Given the description of an element on the screen output the (x, y) to click on. 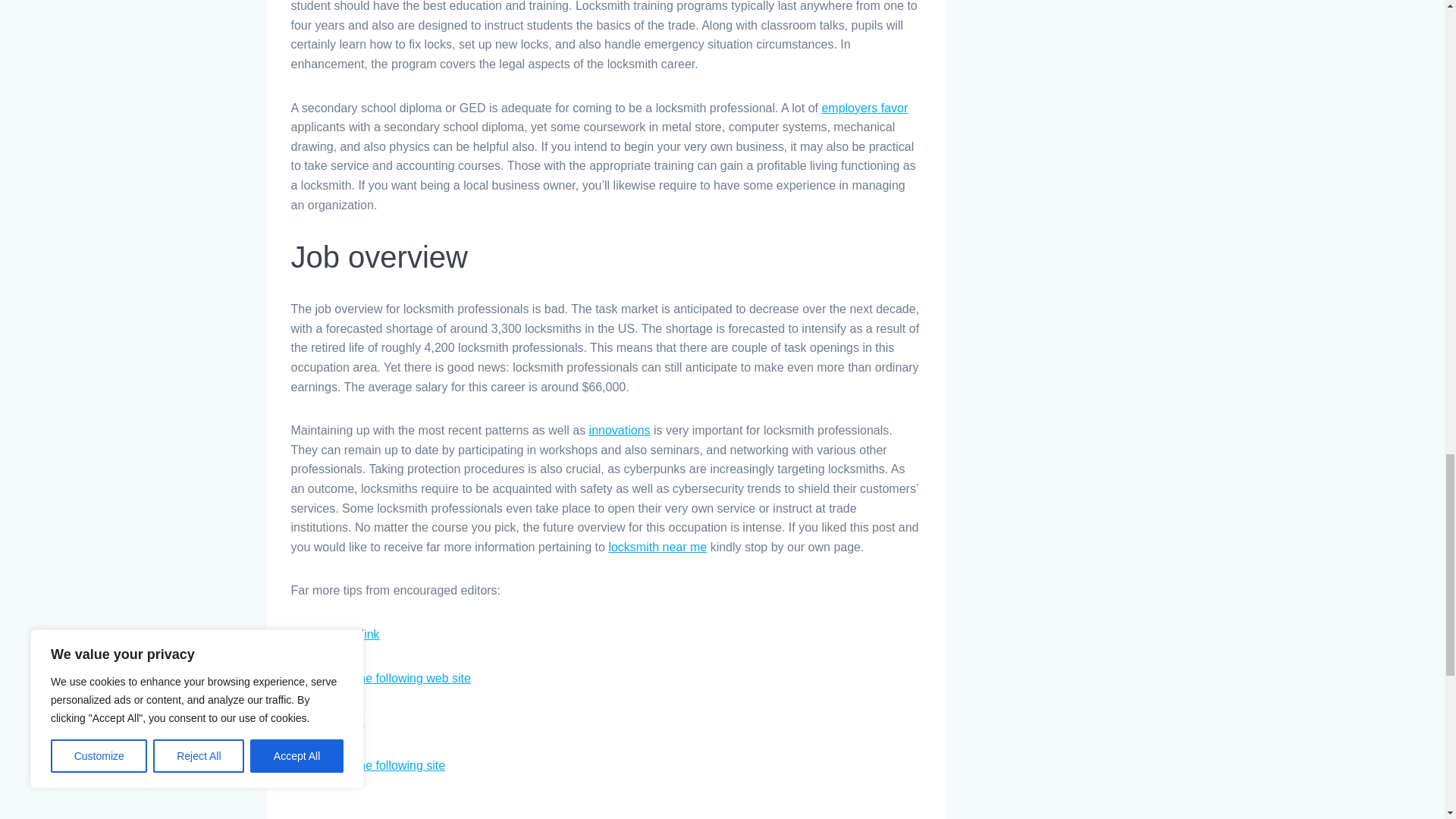
Visit this weblink (335, 634)
innovations (619, 430)
employers favor (864, 107)
simply click the following site (368, 765)
simply click the following web site (380, 677)
More Support (328, 721)
locksmith near me (657, 546)
